Given the description of an element on the screen output the (x, y) to click on. 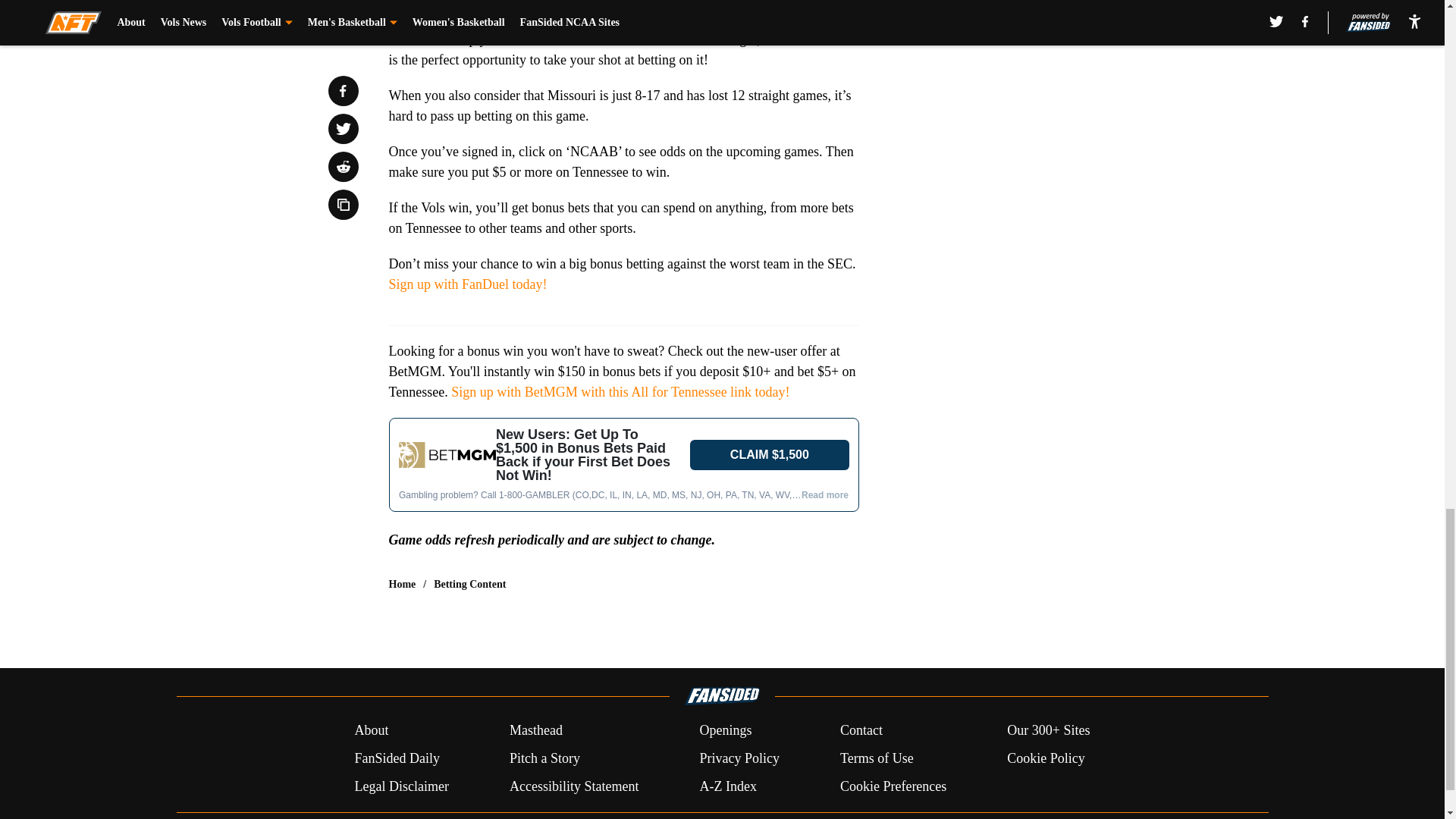
FanSided Daily (396, 758)
Openings (724, 730)
tallysight (623, 464)
About (370, 730)
Home (401, 584)
Betting Content (469, 584)
Privacy Policy (738, 758)
Sign up with FanDuel today! (467, 283)
Masthead (535, 730)
Contact (861, 730)
Pitch a Story (544, 758)
Sign up with BetMGM with this All for Tennessee link today! (620, 391)
